Given the description of an element on the screen output the (x, y) to click on. 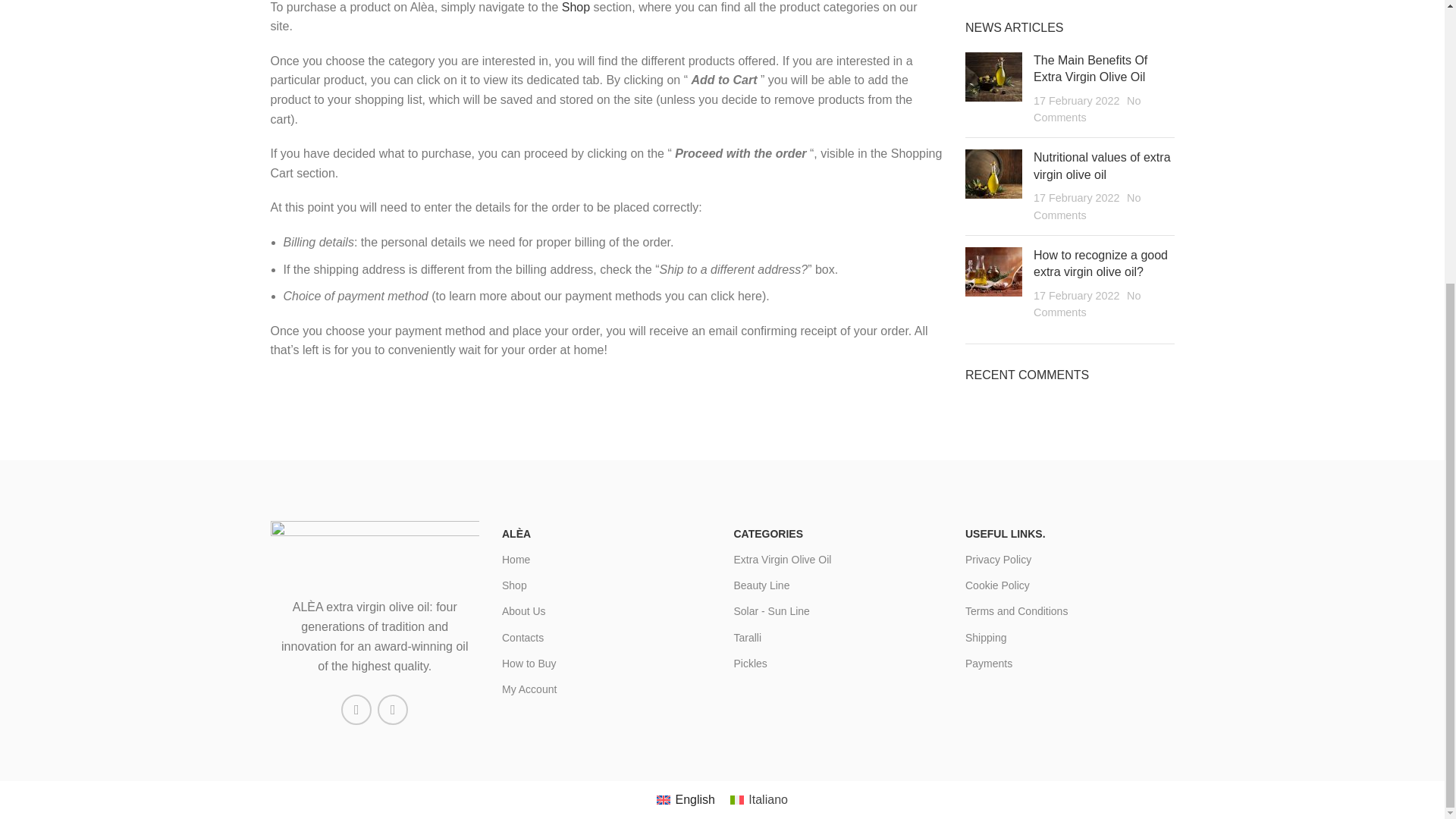
No Comments (1086, 109)
No Comments (1086, 303)
The Main Benefits Of Extra Virgin Olive Oil (1090, 68)
How to recognize a good extra virgin olive oil? (1100, 263)
Nutritional values of extra virgin olive oil (1101, 165)
Permalink to How to recognize a good extra virgin olive oil? (1100, 263)
Shop (575, 6)
Permalink to The Main Benefits Of Extra Virgin Olive Oil (1090, 68)
Home (606, 559)
Permalink to Nutritional values of extra virgin olive oil (1101, 165)
No Comments (1086, 205)
